Given the description of an element on the screen output the (x, y) to click on. 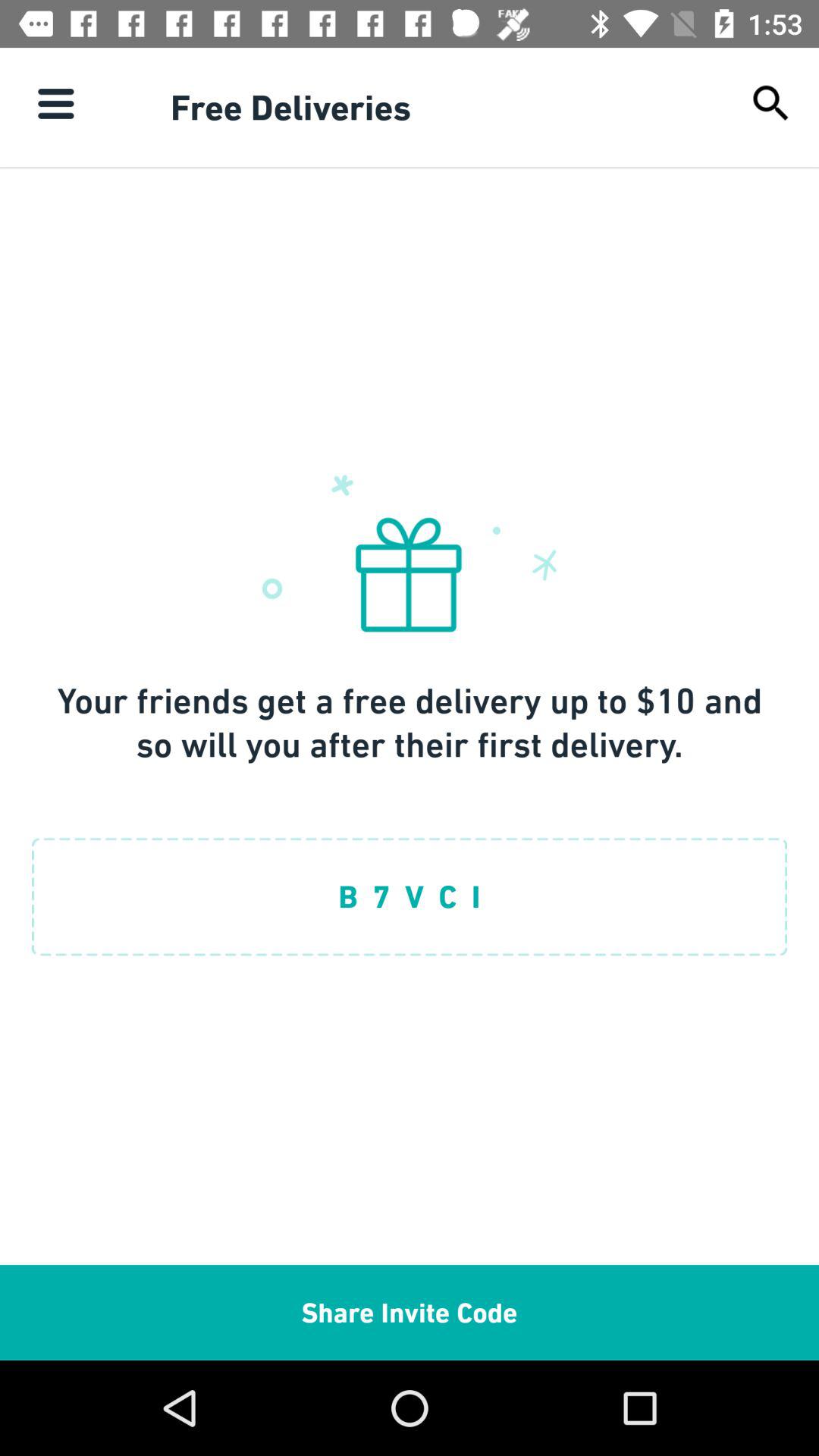
turn on item to the left of free deliveries (55, 103)
